Given the description of an element on the screen output the (x, y) to click on. 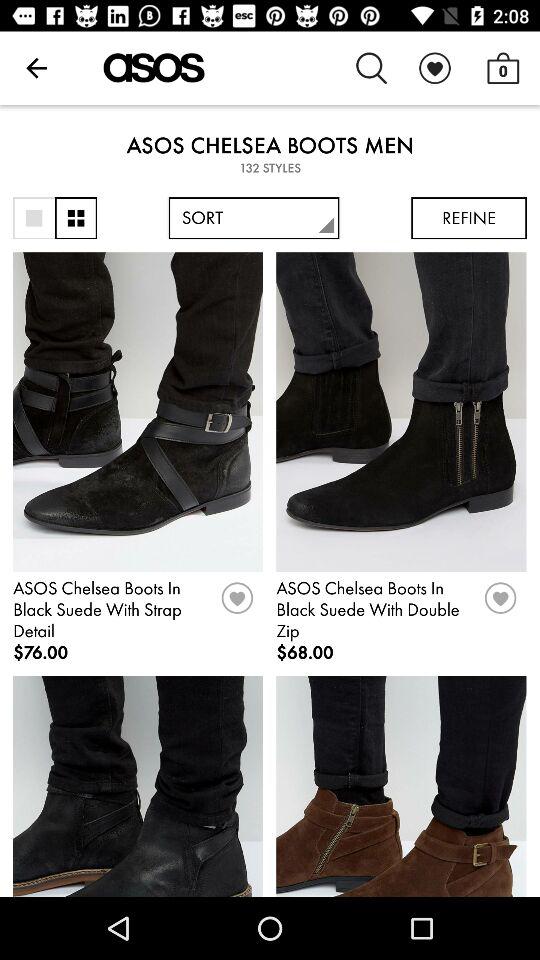
launch item below the 132 styles (34, 218)
